Given the description of an element on the screen output the (x, y) to click on. 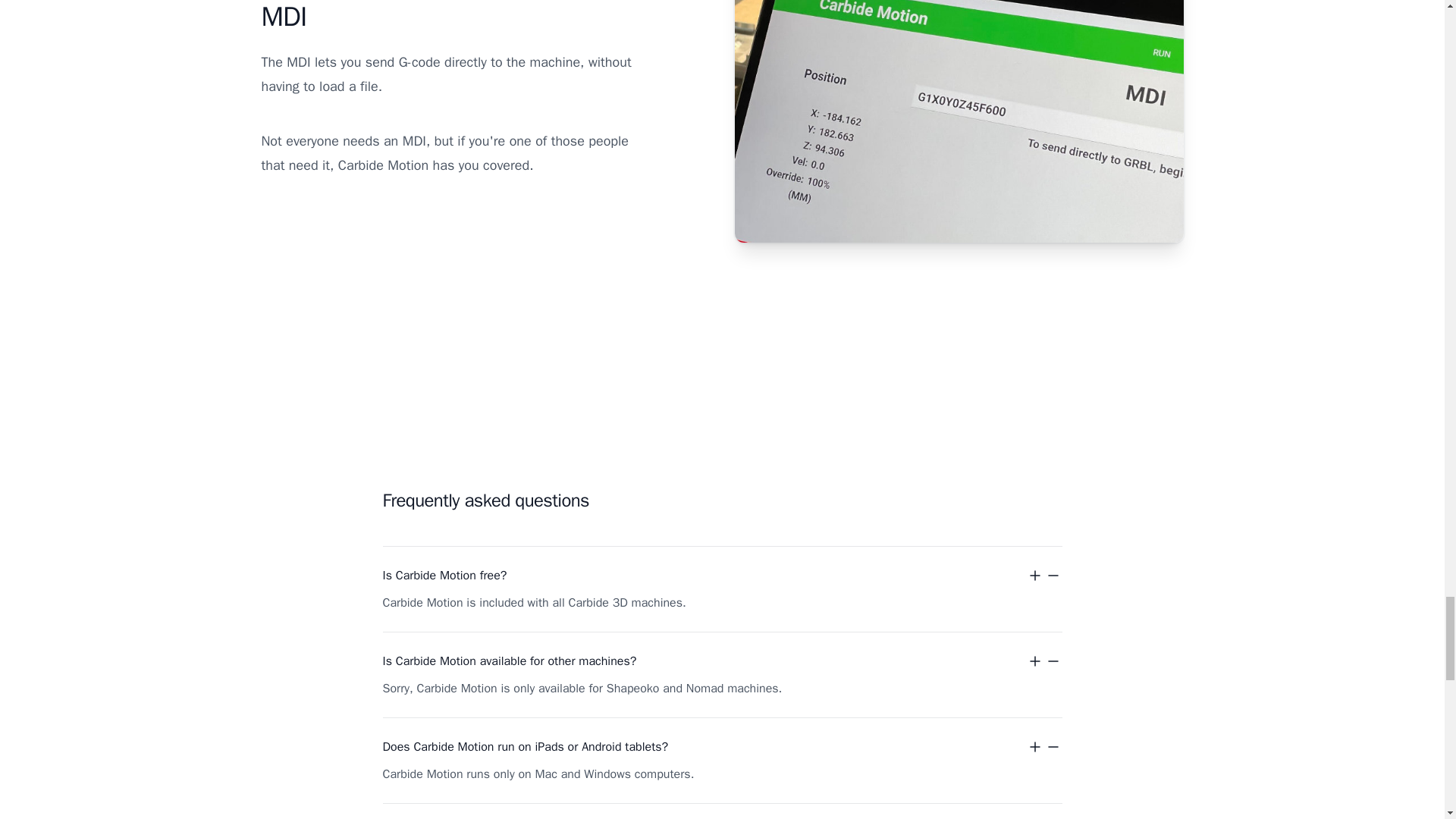
Is Carbide Motion free? (721, 575)
Is Carbide Motion available for other machines? (721, 660)
Does Carbide Motion run on iPads or Android tablets? (721, 746)
